Given the description of an element on the screen output the (x, y) to click on. 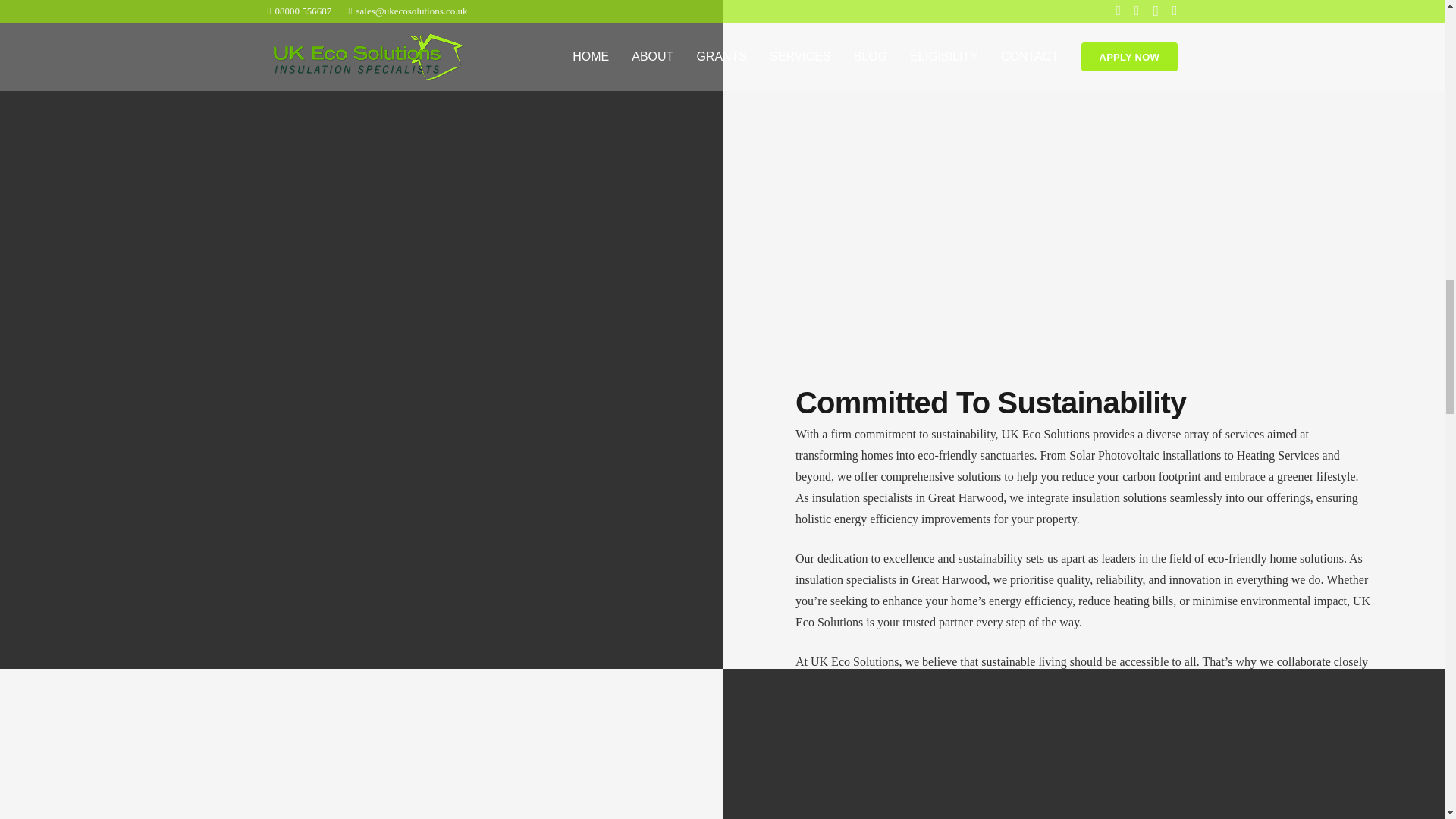
AM I ELIGIBLE? (839, 204)
